Given the description of an element on the screen output the (x, y) to click on. 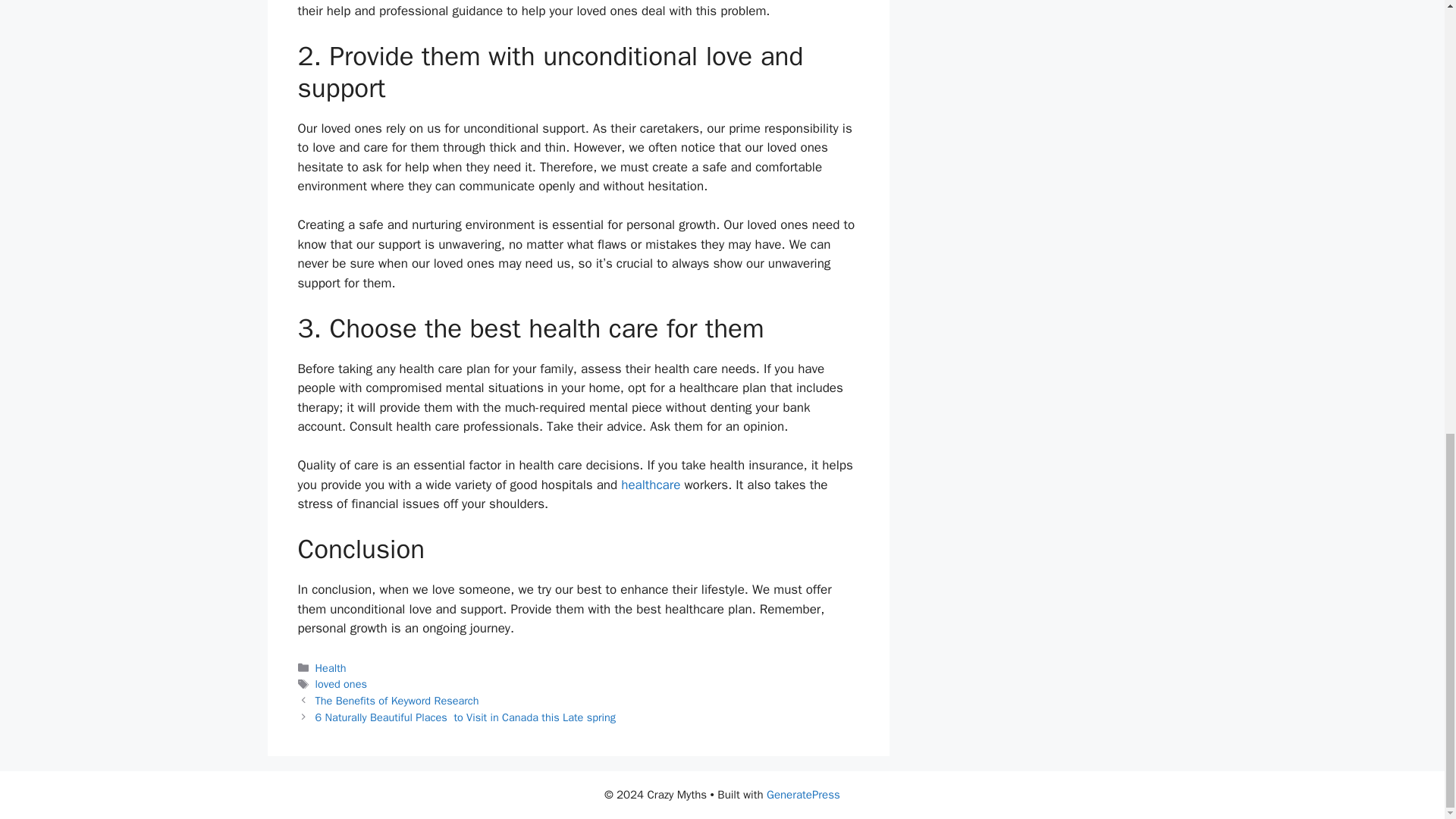
Health (330, 667)
loved ones (340, 684)
GeneratePress (803, 794)
healthcare (650, 484)
The Benefits of Keyword Research (397, 700)
